Given the description of an element on the screen output the (x, y) to click on. 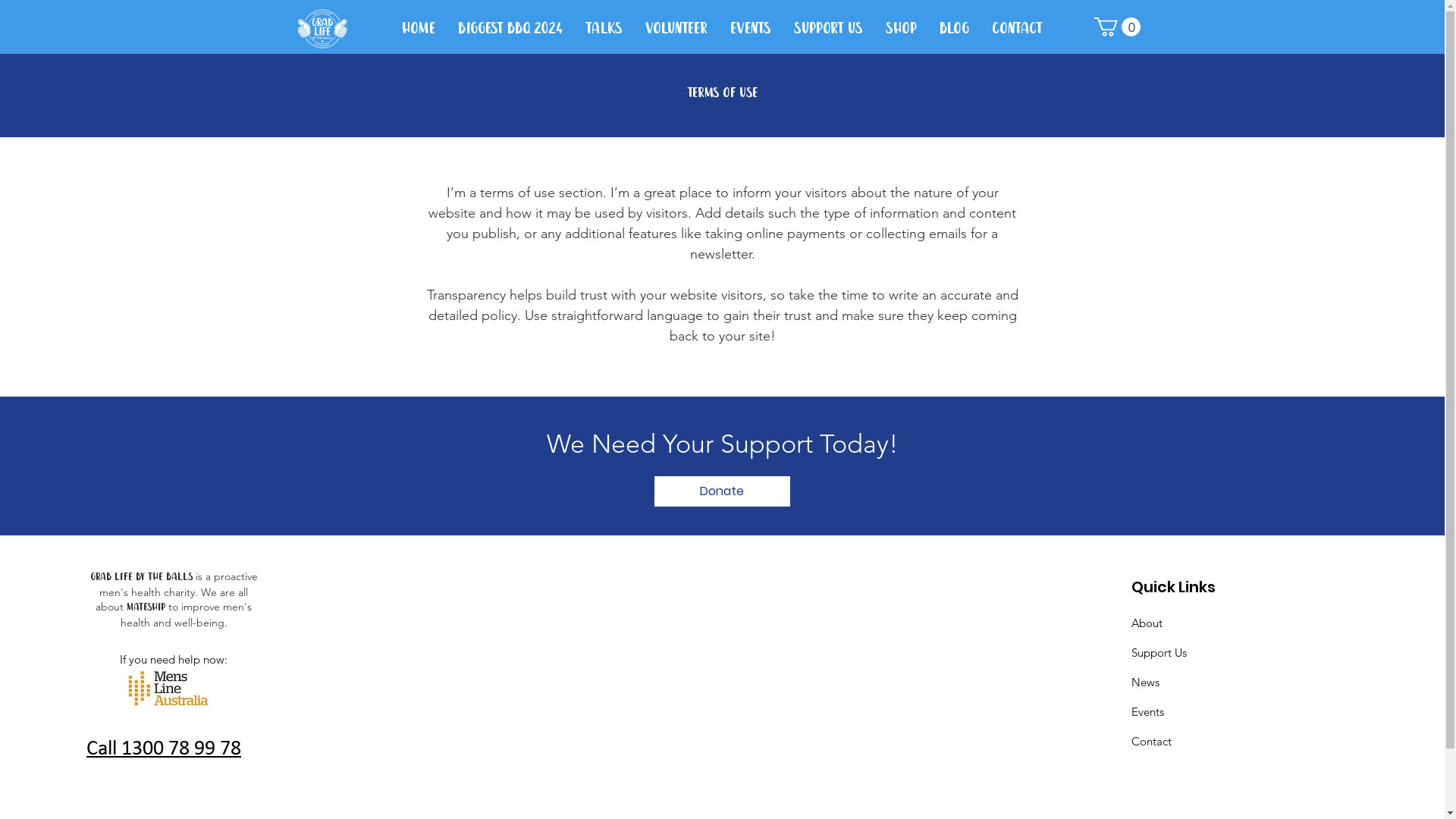
Home Element type: text (417, 28)
0 Element type: text (1116, 26)
Blog Element type: text (954, 28)
Call 1300 78 99 78 Element type: text (163, 748)
Support Us Element type: text (1158, 652)
Shop Element type: text (900, 28)
Contact Element type: text (1151, 741)
Talks Element type: text (603, 28)
Volunteer Element type: text (675, 28)
Biggest BBQ 2024 Element type: text (509, 28)
News Element type: text (1145, 681)
About Element type: text (1146, 622)
Donate Element type: text (721, 491)
Support Us Element type: text (828, 28)
Events Element type: text (1147, 711)
Events Element type: text (750, 28)
Contact Element type: text (1016, 28)
